Given the description of an element on the screen output the (x, y) to click on. 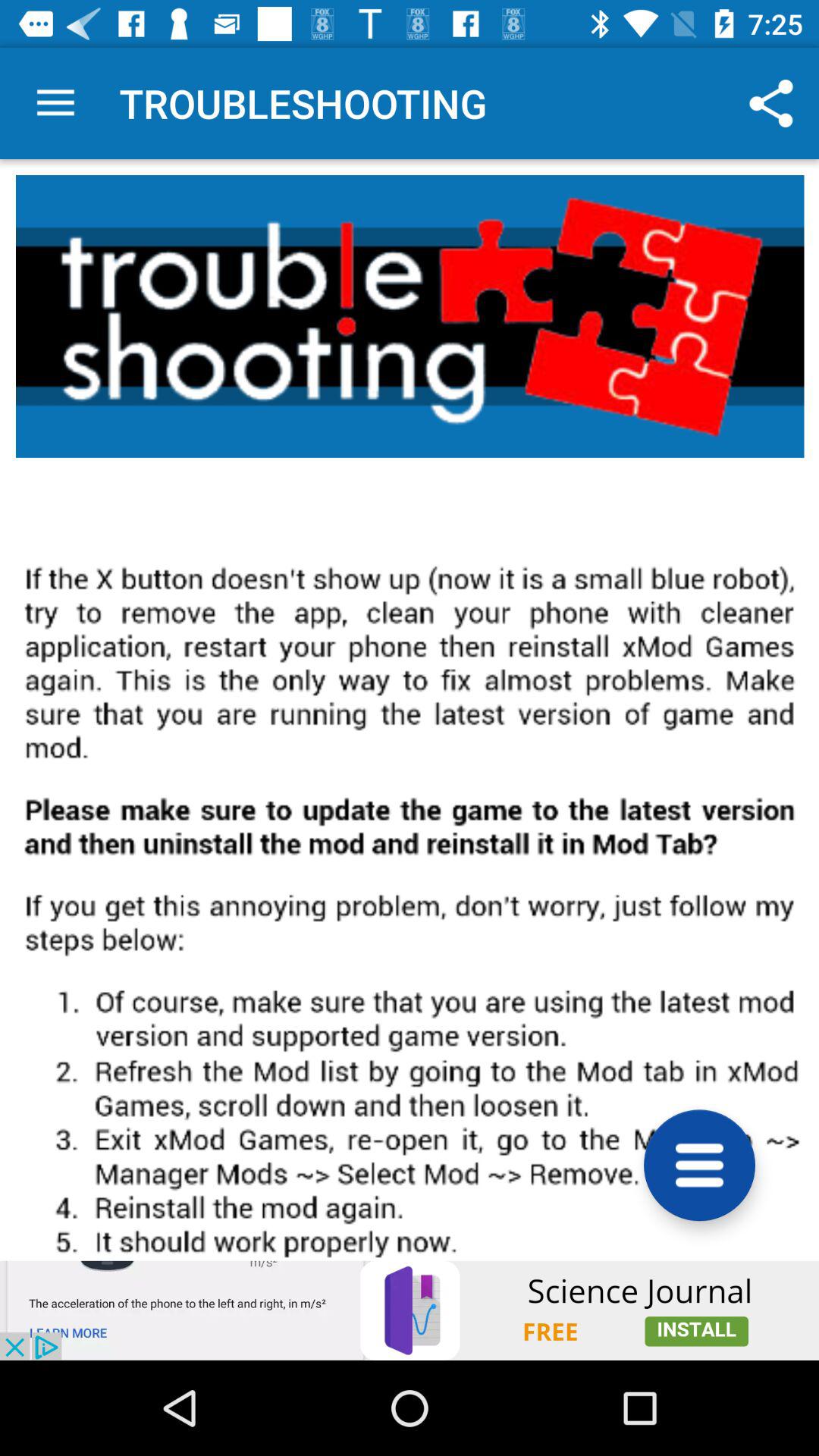
tap to menu (699, 1165)
